Given the description of an element on the screen output the (x, y) to click on. 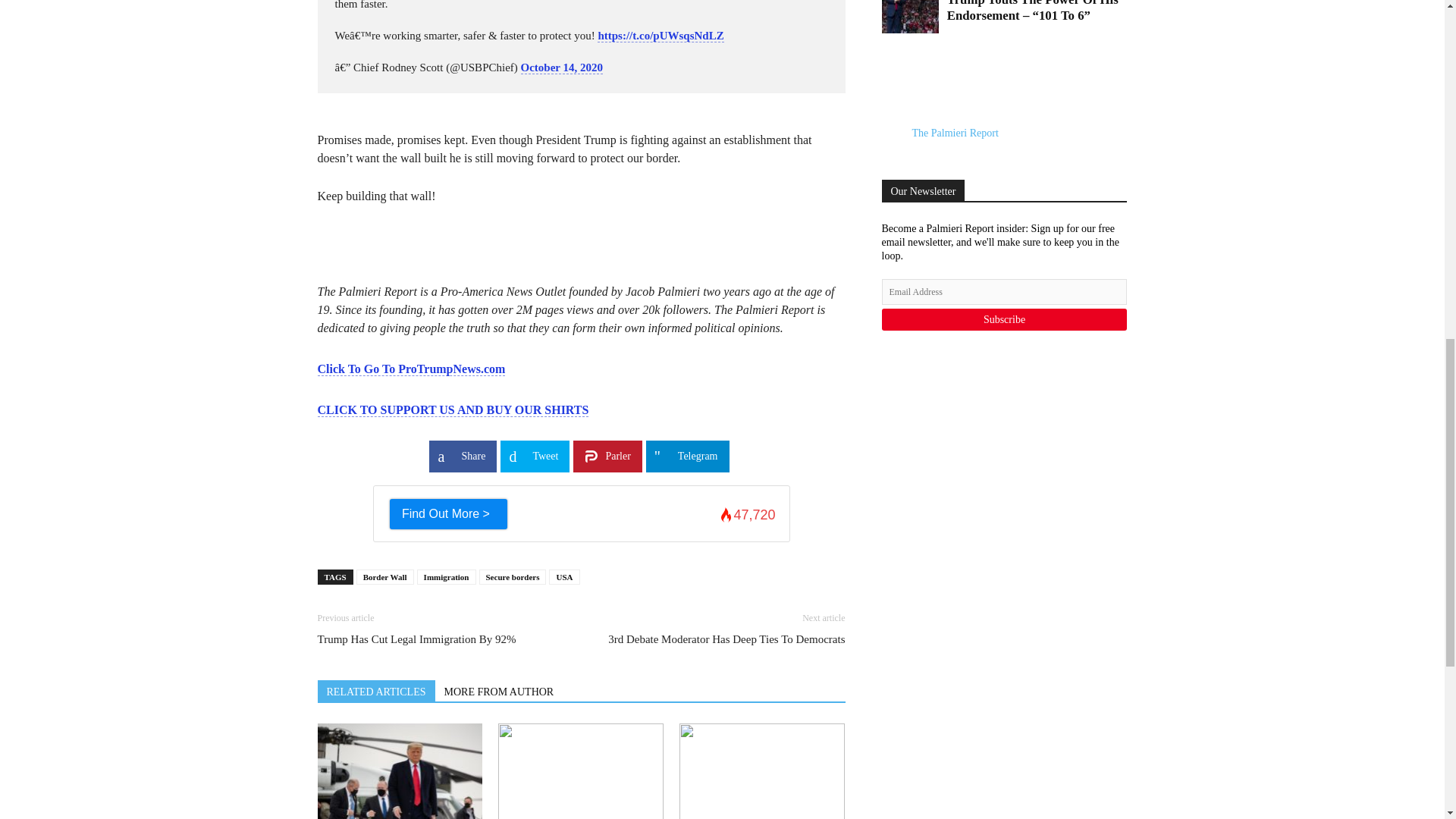
Share on Share (462, 456)
Trump Says Biden Knew All About Mar-A-Lago Raid (399, 771)
Share on Tweet (534, 456)
Share on Parler (607, 456)
Share on Telegram (687, 456)
